Given the description of an element on the screen output the (x, y) to click on. 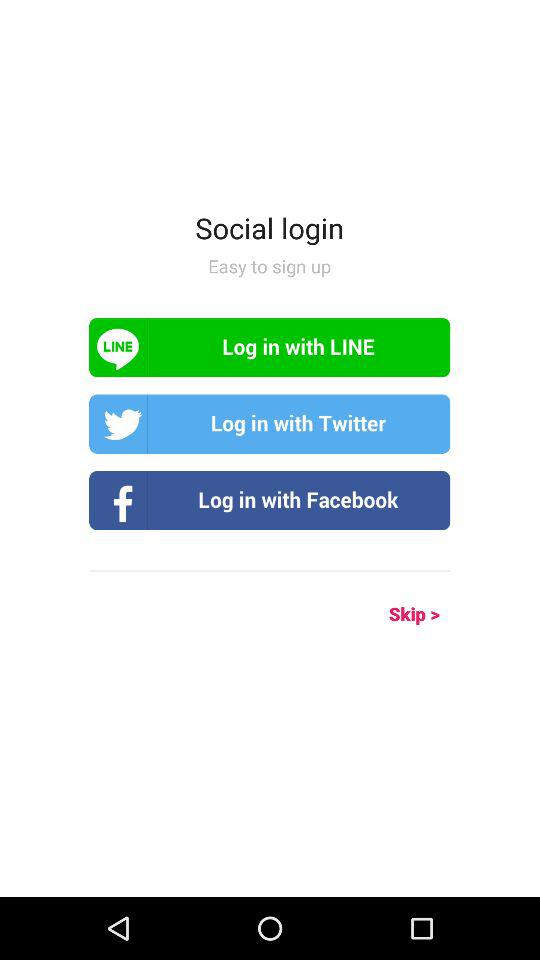
log in with twitter buttion (269, 423)
